Given the description of an element on the screen output the (x, y) to click on. 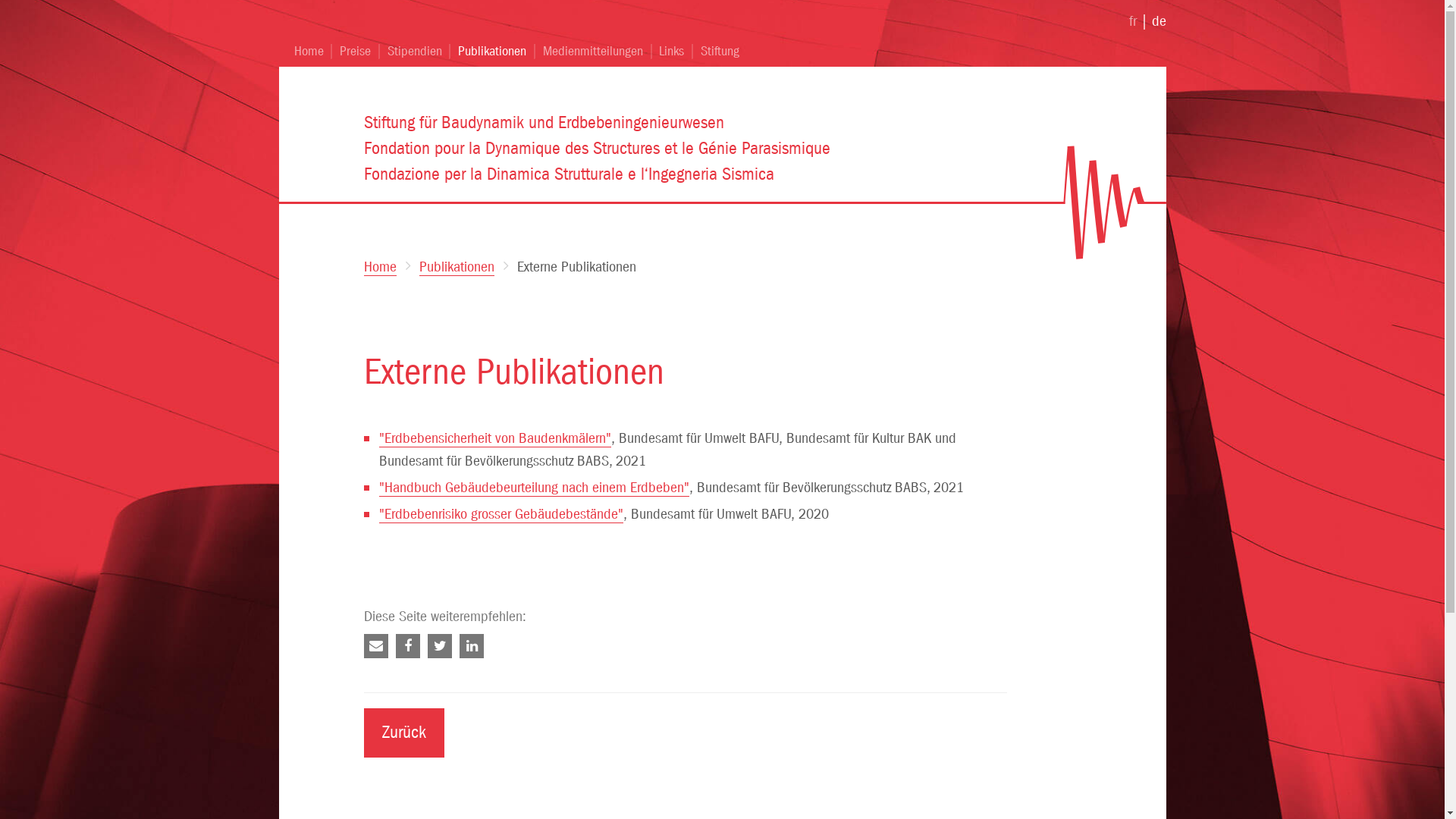
Home Element type: text (313, 51)
Share on Twitter Element type: hover (439, 645)
Preise Element type: text (355, 51)
Stipendien Element type: text (414, 51)
Share on Facebook Element type: hover (407, 645)
Medienmitteilungen Element type: text (592, 51)
Links Element type: text (672, 51)
Share on LinkedIn Element type: hover (471, 645)
Home Element type: text (380, 266)
Publikationen Element type: text (456, 266)
Stiftung Element type: text (715, 51)
Publikationen Element type: text (491, 51)
fr Element type: text (1131, 21)
Share by mail Element type: hover (376, 645)
